Given the description of an element on the screen output the (x, y) to click on. 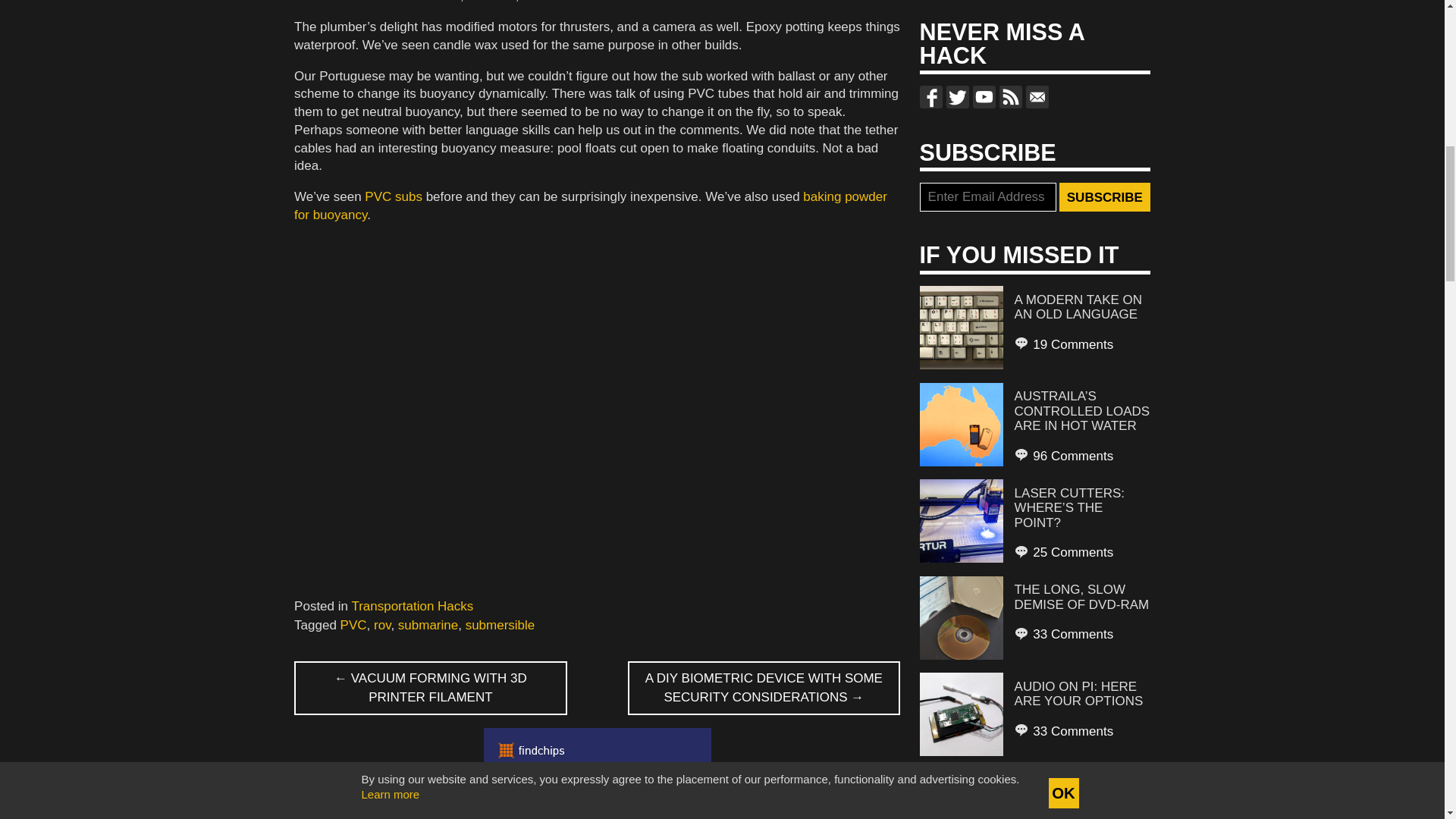
Subscribe (1104, 196)
submersible (500, 625)
baking powder for buoyancy (590, 205)
rov (382, 625)
PVC (353, 625)
Transportation Hacks (411, 605)
submarine (427, 625)
PVC subs (393, 196)
